Given the description of an element on the screen output the (x, y) to click on. 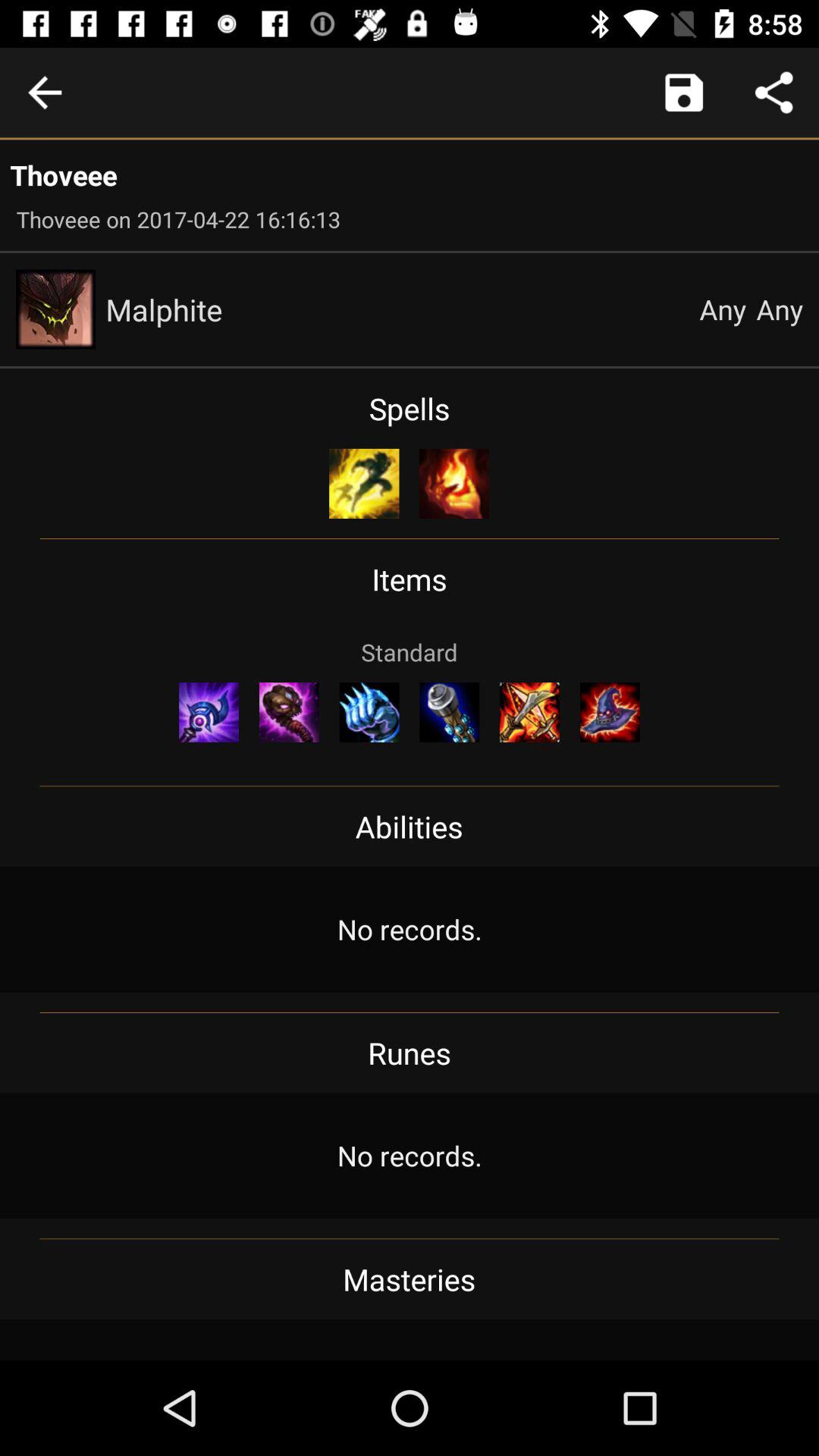
press the icon below standard icon (369, 712)
